Given the description of an element on the screen output the (x, y) to click on. 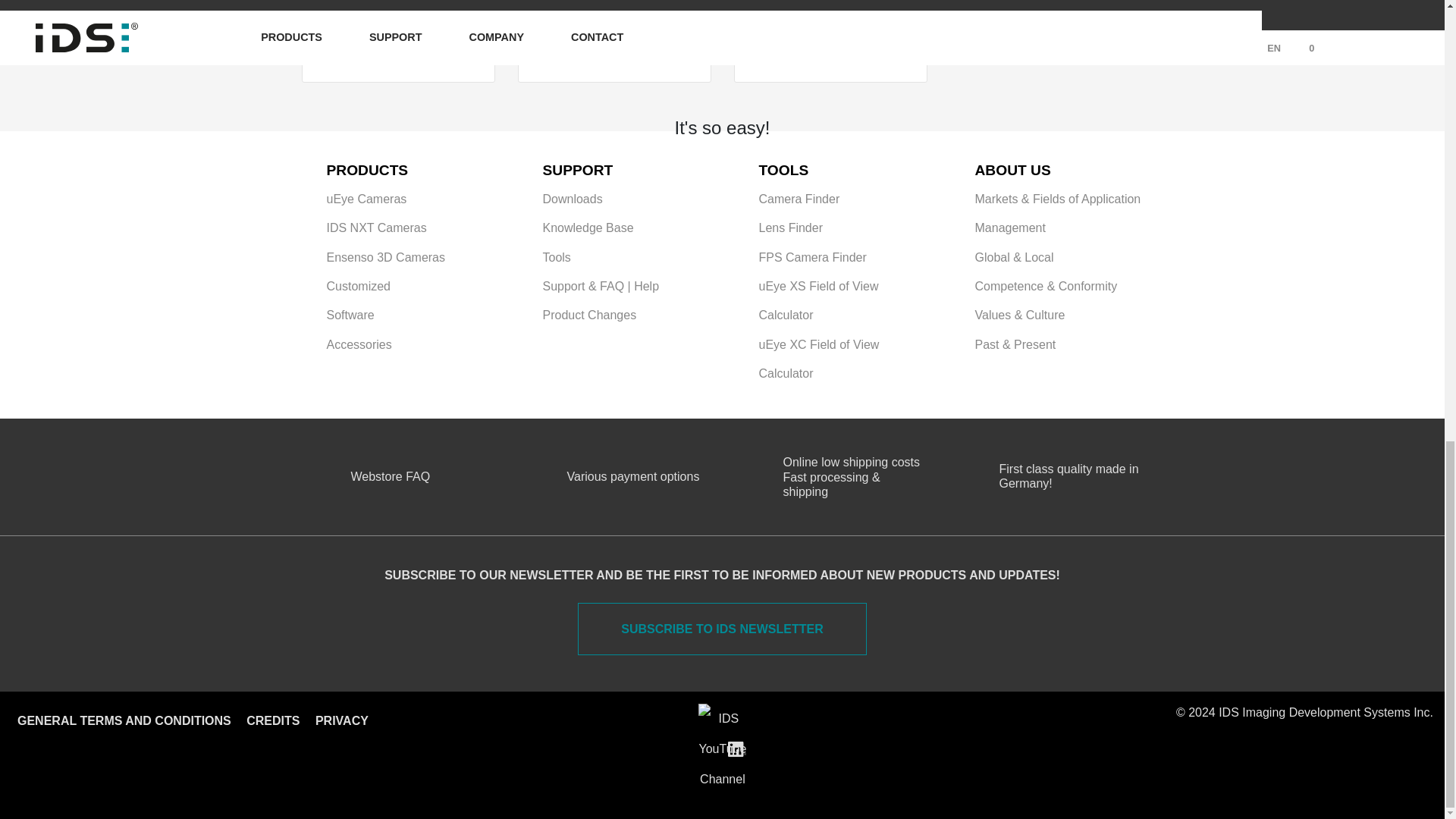
YouTube (721, 748)
LinkedIn (736, 748)
